Given the description of an element on the screen output the (x, y) to click on. 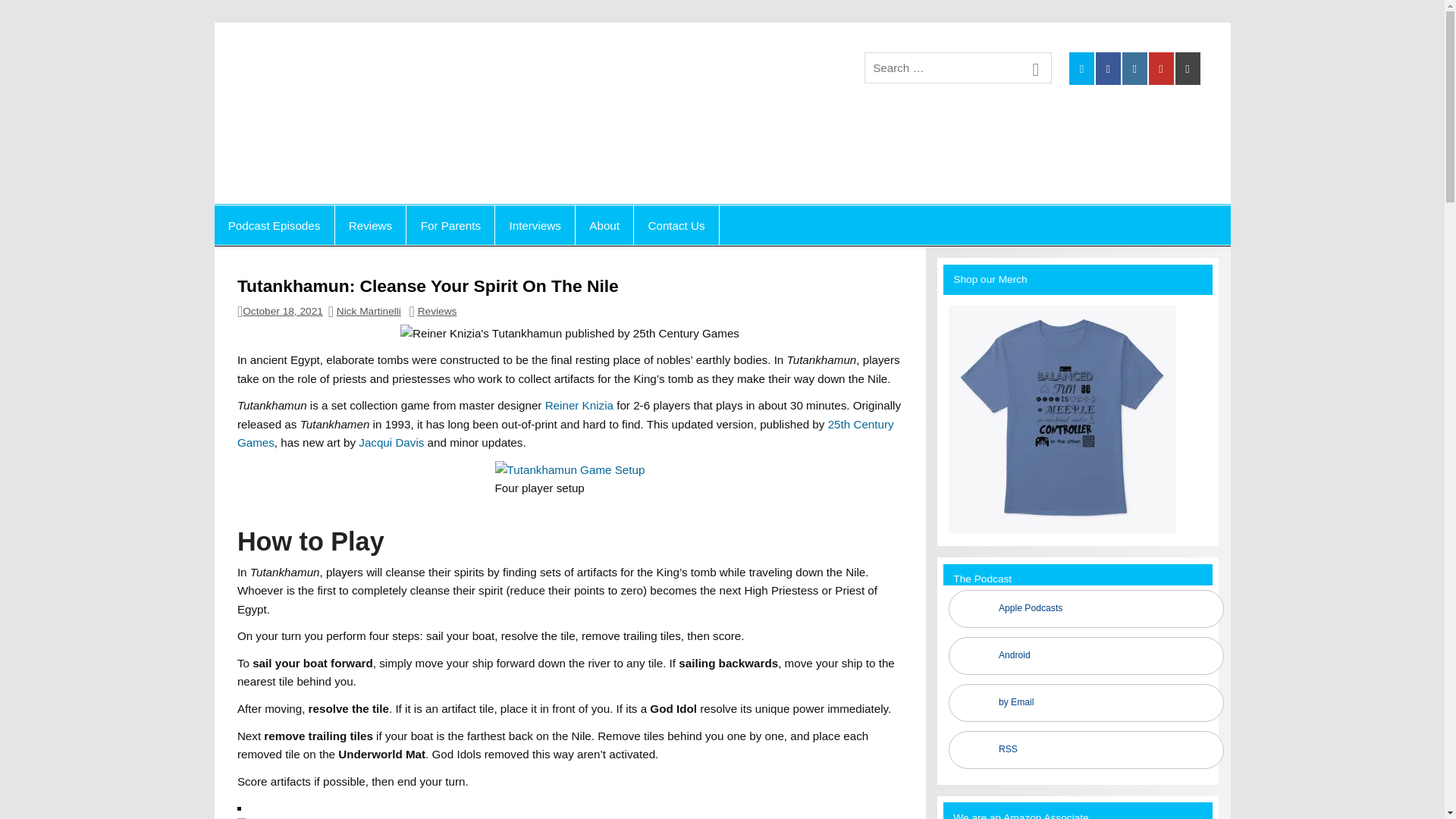
Reiner Knizia (578, 404)
Subscribe on Android (1086, 655)
Reviews (370, 224)
Subscribe via RSS (1086, 750)
Subscribe by Email (1086, 702)
View all posts by Nick Martinelli (368, 310)
October 18, 2021 (283, 310)
Nick Martinelli (368, 310)
Interviews (535, 224)
25th Century Games (565, 432)
